Given the description of an element on the screen output the (x, y) to click on. 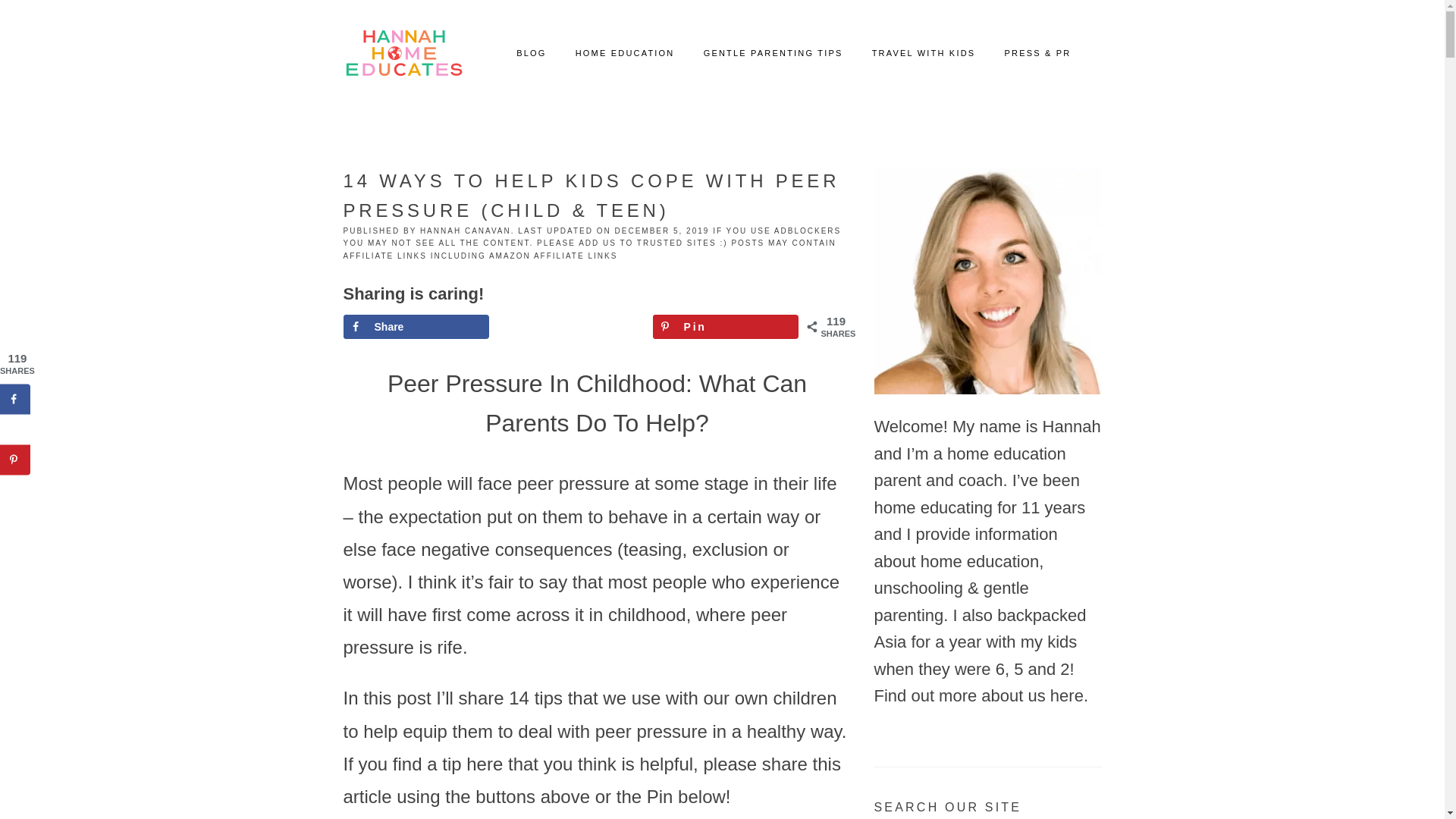
Save to Pinterest (724, 326)
HOME EDUCATION (625, 53)
ADVENTURE TRAVEL FAMILY (403, 53)
TRAVEL WITH KIDS (923, 53)
GENTLE PARENTING TIPS (773, 53)
Save to Pinterest (15, 459)
Share on Facebook (15, 399)
Share (414, 326)
about us here. (1034, 695)
Share on X (570, 326)
Share on X (15, 429)
Pin (724, 326)
Share on Facebook (414, 326)
Tweet (570, 326)
